Given the description of an element on the screen output the (x, y) to click on. 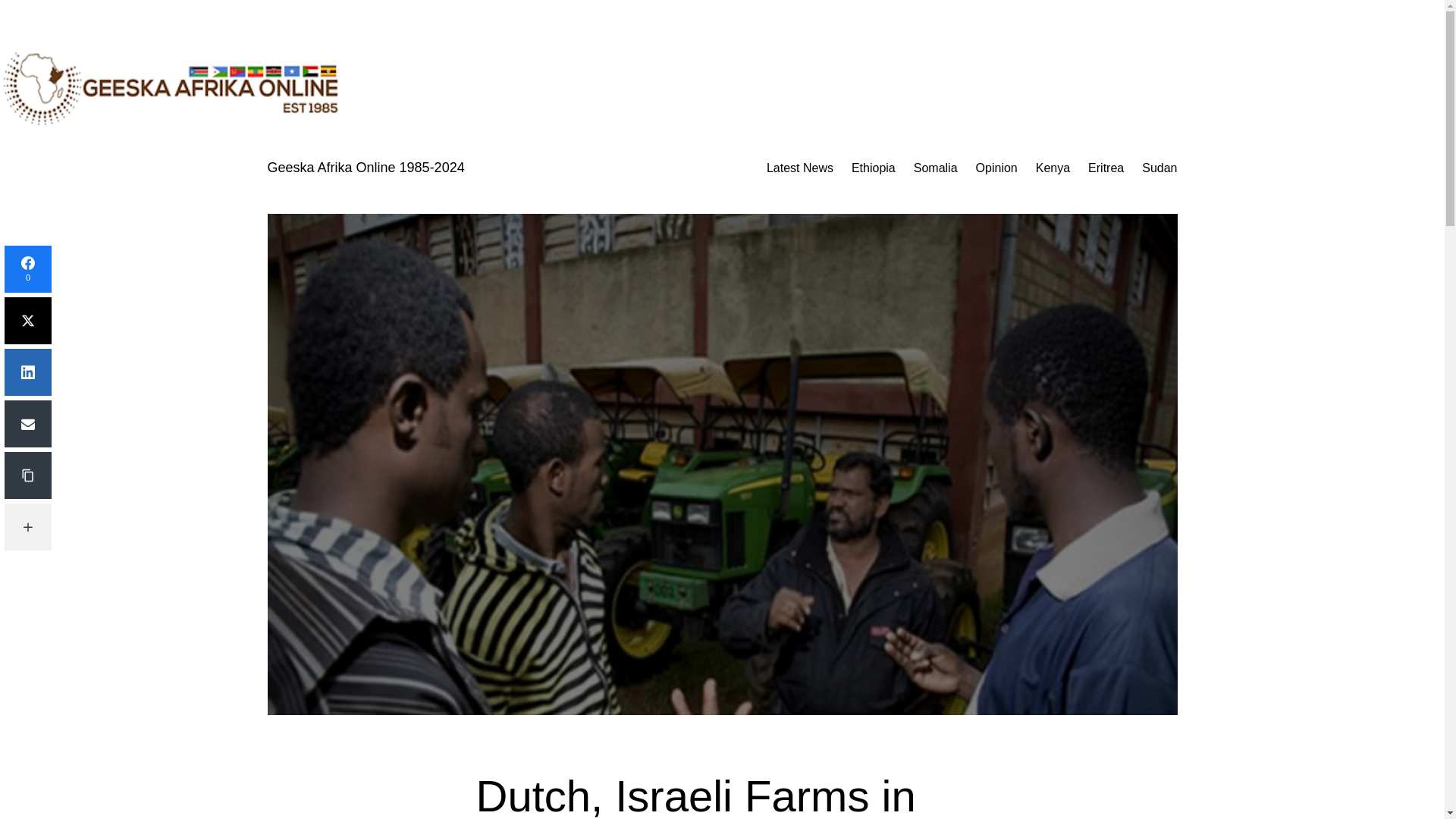
Eritrea (1105, 168)
Latest News (799, 168)
0 (27, 268)
Opinion (996, 168)
Geeska Afrika Online 1985-2024 (365, 167)
Sudan (1158, 168)
Somalia (936, 168)
Kenya (1052, 168)
Ethiopia (873, 168)
